Given the description of an element on the screen output the (x, y) to click on. 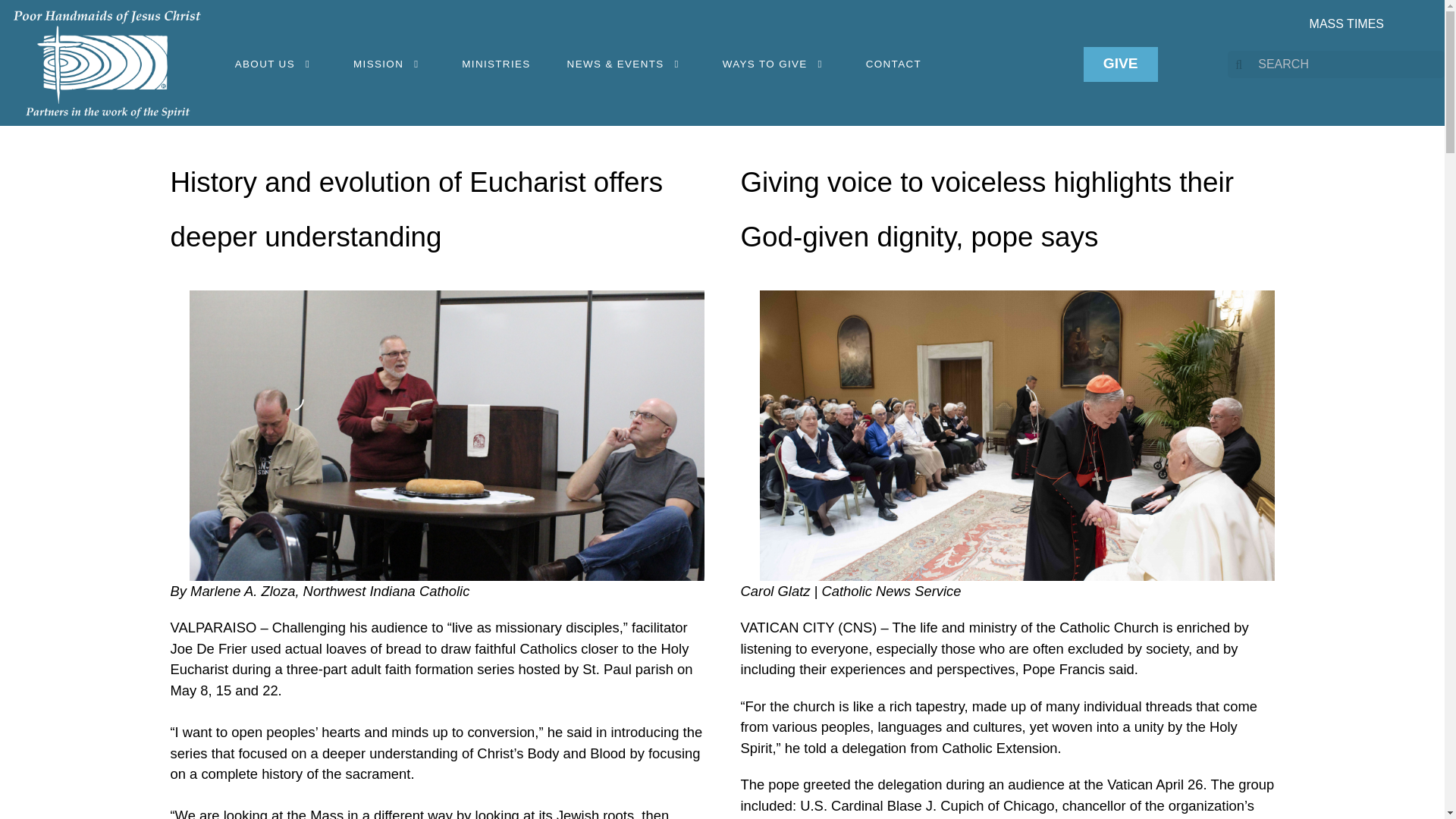
GIVE (1120, 63)
MINISTRIES (496, 63)
ABOUT US (275, 63)
GIVE (1120, 63)
MISSION (389, 63)
WAYS TO GIVE (775, 63)
CONTACT (893, 63)
MASS TIMES (1346, 23)
